Given the description of an element on the screen output the (x, y) to click on. 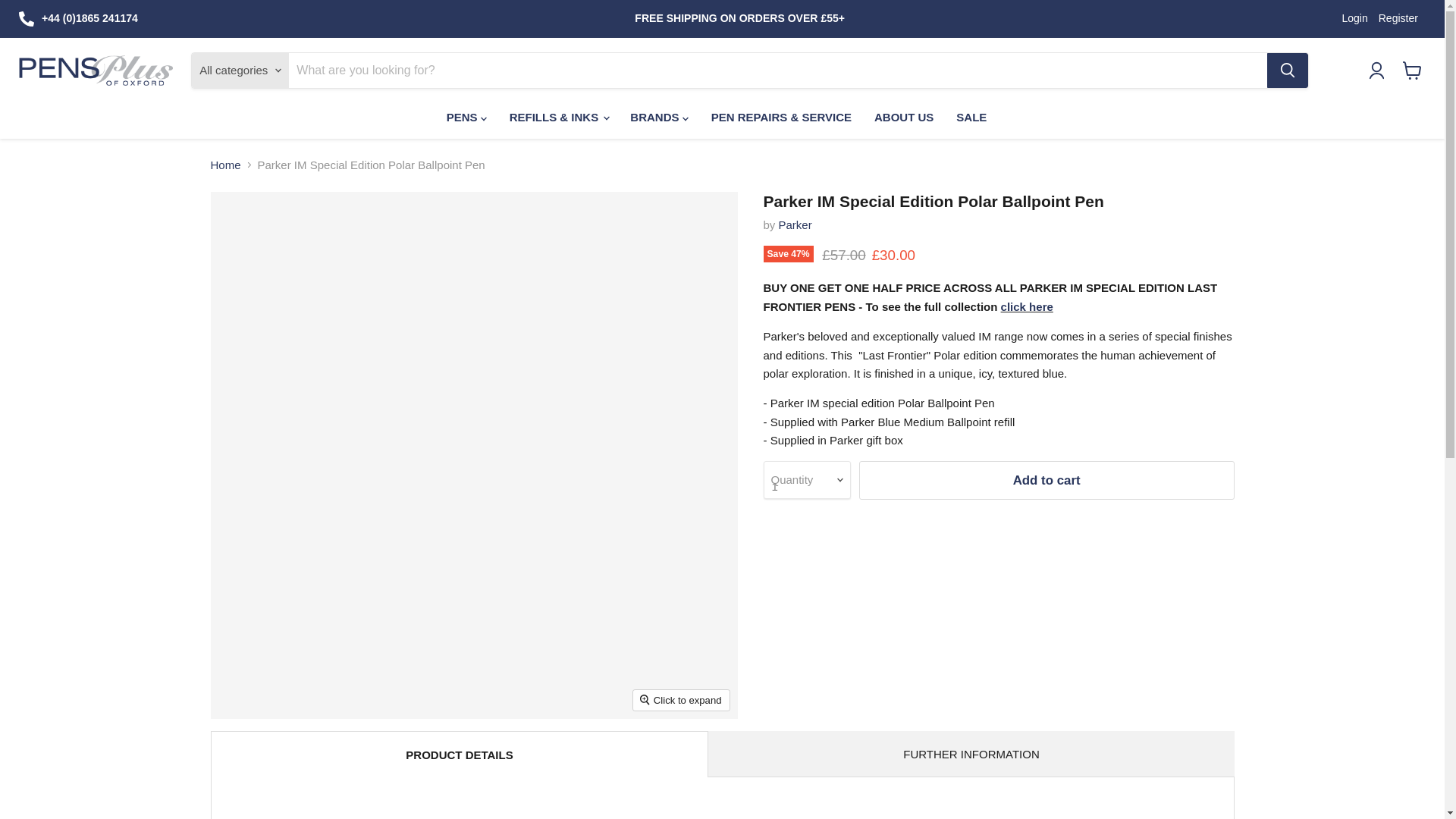
View cart (1411, 70)
Parker (795, 224)
Register (1398, 18)
Login (1353, 18)
